Given the description of an element on the screen output the (x, y) to click on. 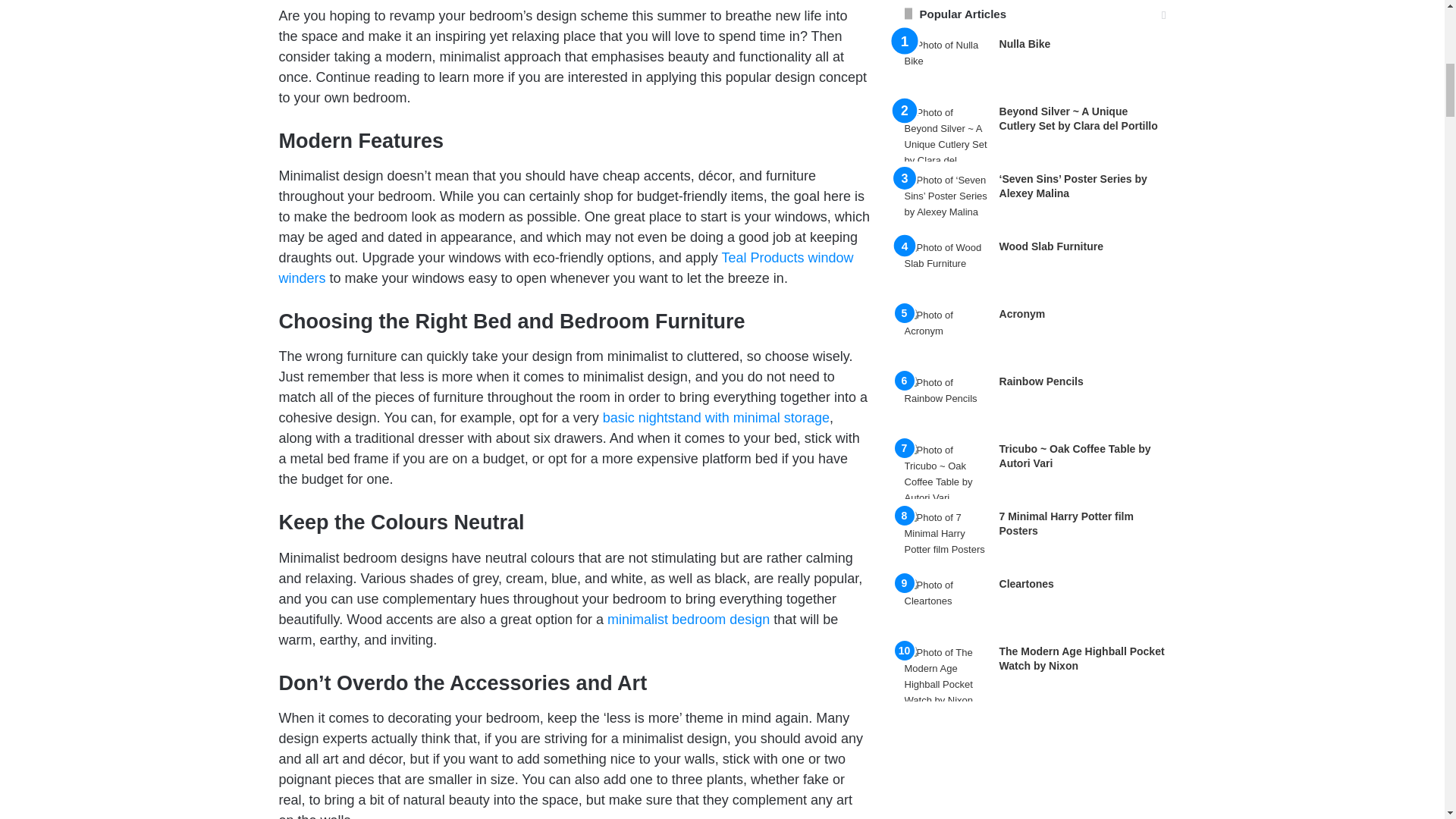
Teal Products window winders (566, 267)
minimalist bedroom design (688, 619)
Nulla Bike (1024, 43)
basic nightstand with minimal storage (715, 417)
